Given the description of an element on the screen output the (x, y) to click on. 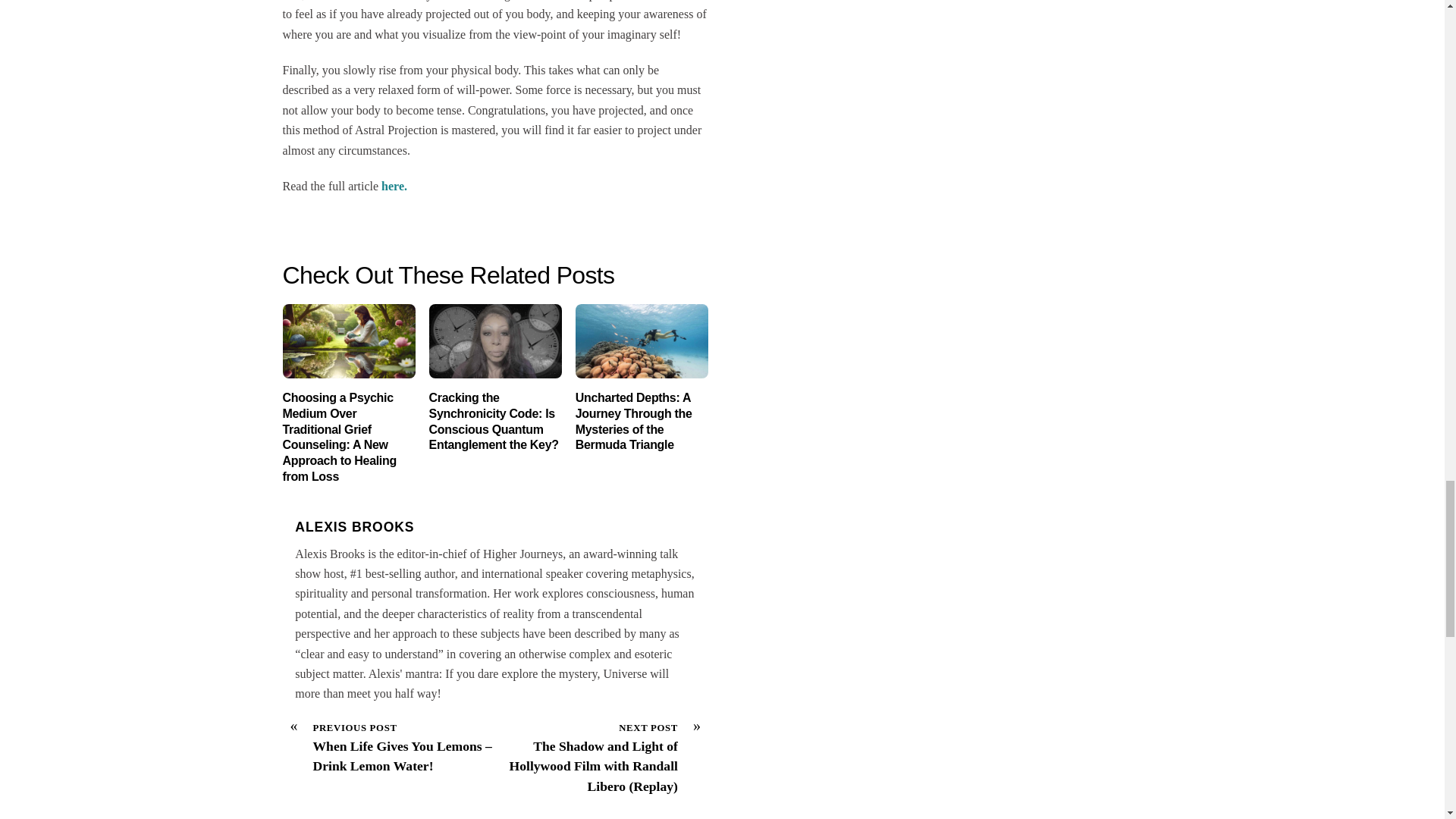
RobbinArticle (348, 341)
